Given the description of an element on the screen output the (x, y) to click on. 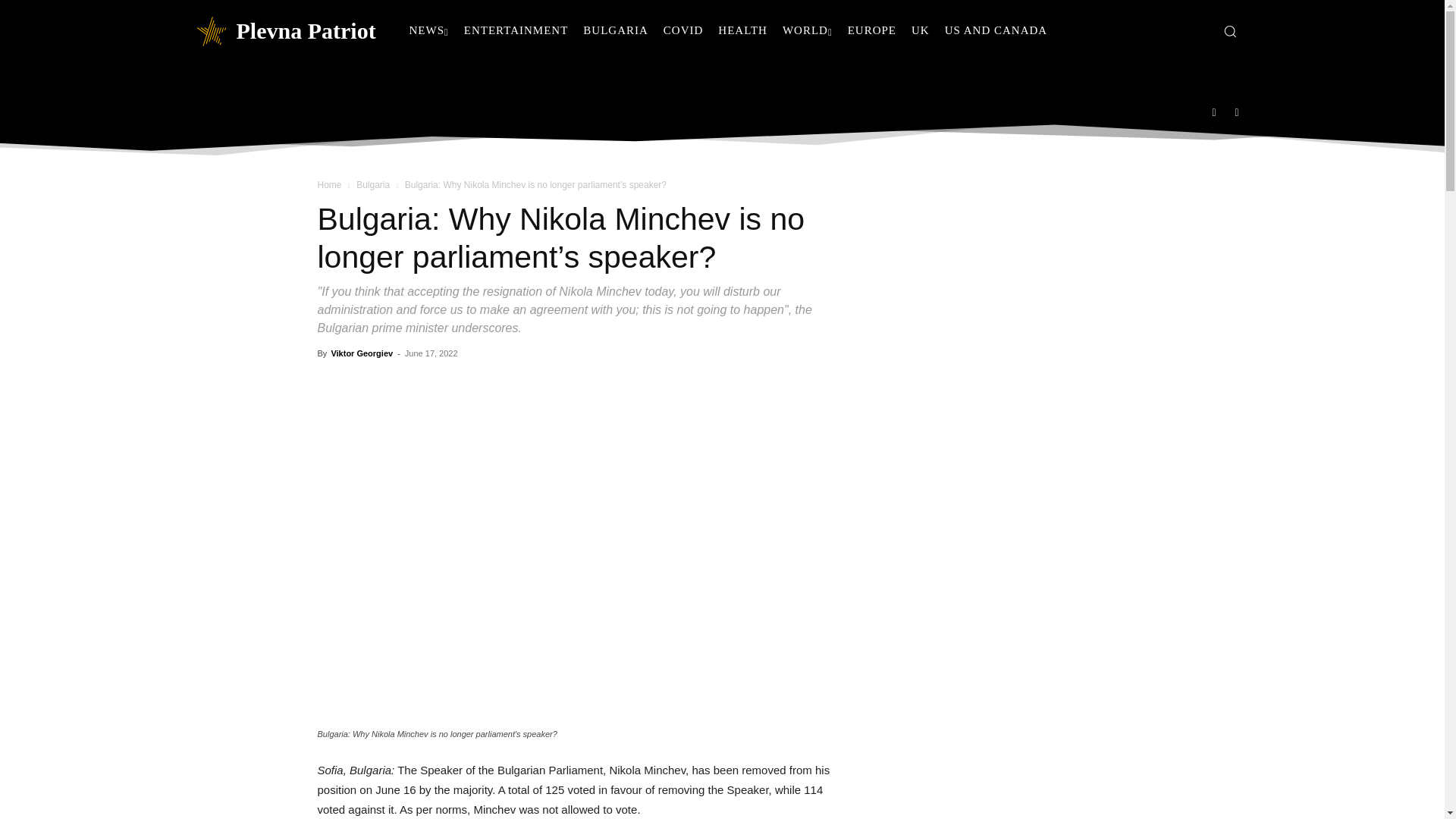
Home (328, 184)
COVID (683, 30)
HEALTH (742, 30)
View all posts in Bulgaria (373, 184)
ENTERTAINMENT (516, 30)
NEWS (429, 30)
WORLD (807, 30)
US AND CANADA (996, 30)
Bulgaria (373, 184)
EUROPE (872, 30)
